Given the description of an element on the screen output the (x, y) to click on. 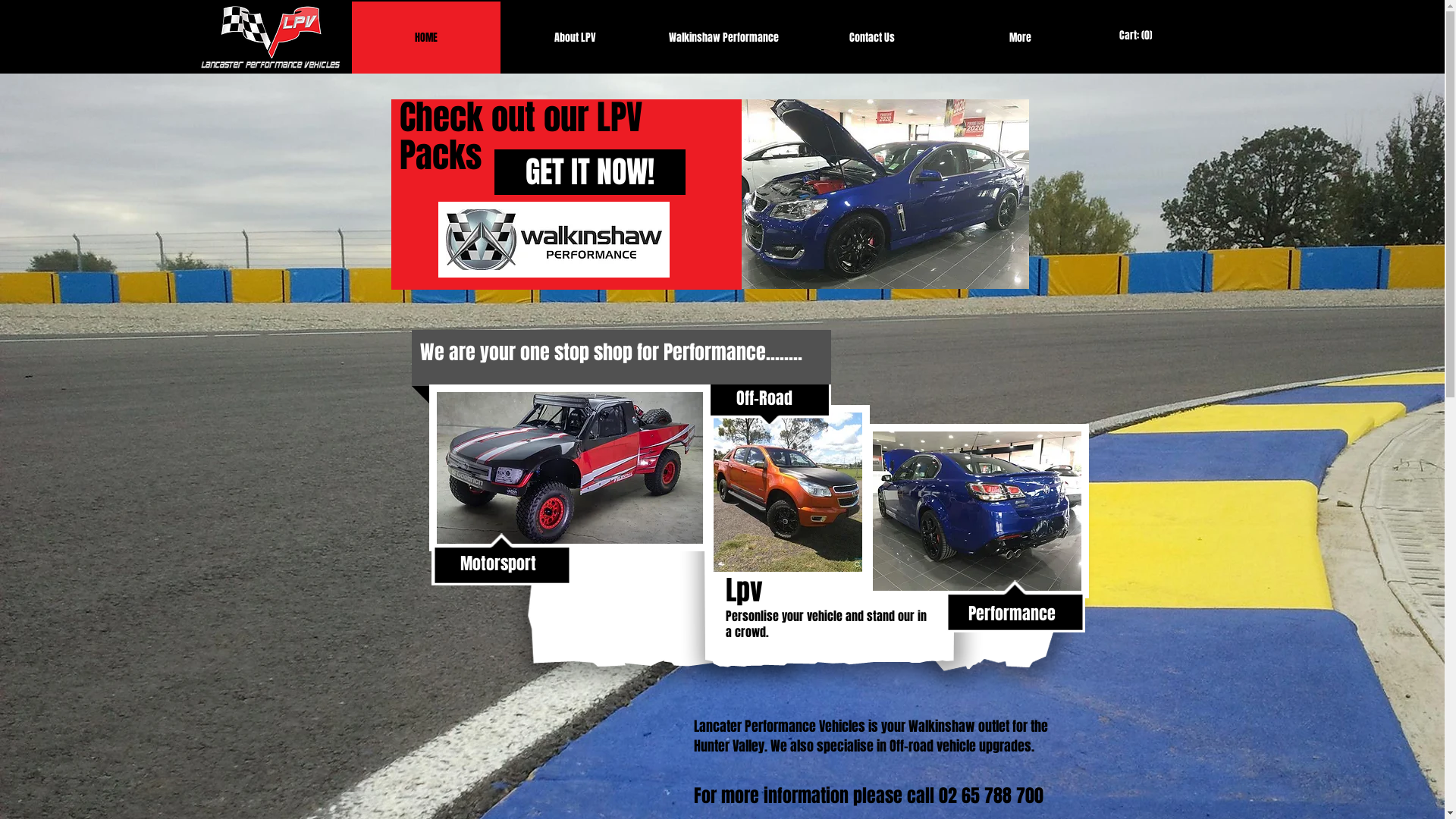
10423761_757706844250280_1829281394589105165_n.jpg Element type: hover (787, 491)
11222229_997543213599974_2993286108010233957_n.jpg Element type: hover (885, 193)
Contact Us Element type: text (871, 37)
Walkinshaw Performance Element type: text (723, 37)
Motorsport Element type: text (497, 562)
Off-Road Element type: text (763, 397)
Cart: (0) Element type: text (1135, 35)
GET IT NOW! Element type: text (589, 171)
About LPV Element type: text (574, 37)
12193555_1056922737675797_8711300415462575293_n.jpg Element type: hover (976, 510)
HOME Element type: text (425, 37)
Performance Element type: text (1011, 612)
